Given the description of an element on the screen output the (x, y) to click on. 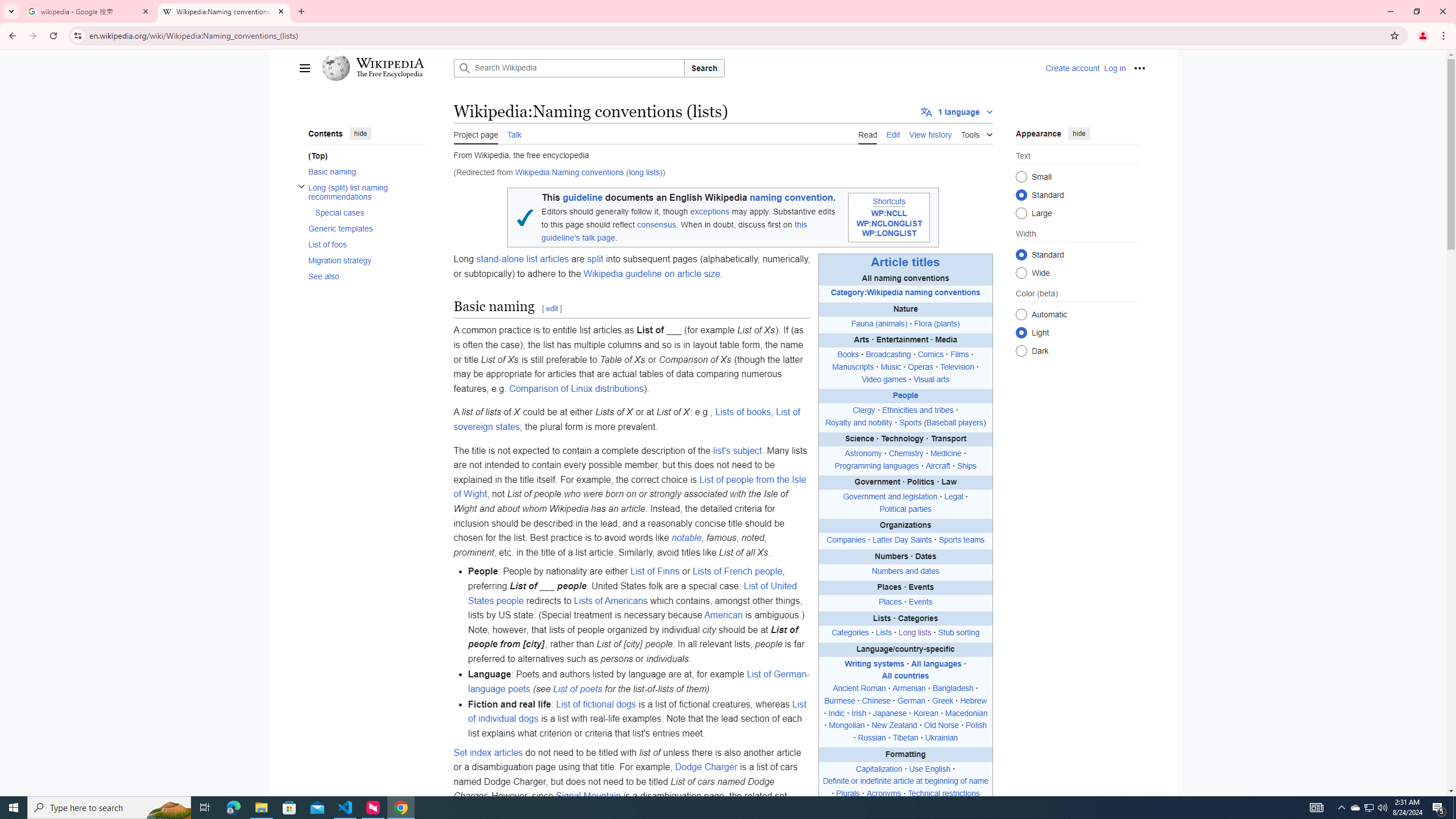
List of United States people (632, 593)
Read (867, 133)
Visual arts (930, 379)
AutomationID: toc-List_of_foos (365, 243)
Signal Mountain (588, 795)
Category:Wikipedia naming conventions (904, 292)
Capitalization (879, 768)
Wikipedia:Naming conventions (lists) - Wikipedia (224, 11)
Standard (1020, 254)
(Top) (368, 155)
Numbers and dates (904, 570)
